Given the description of an element on the screen output the (x, y) to click on. 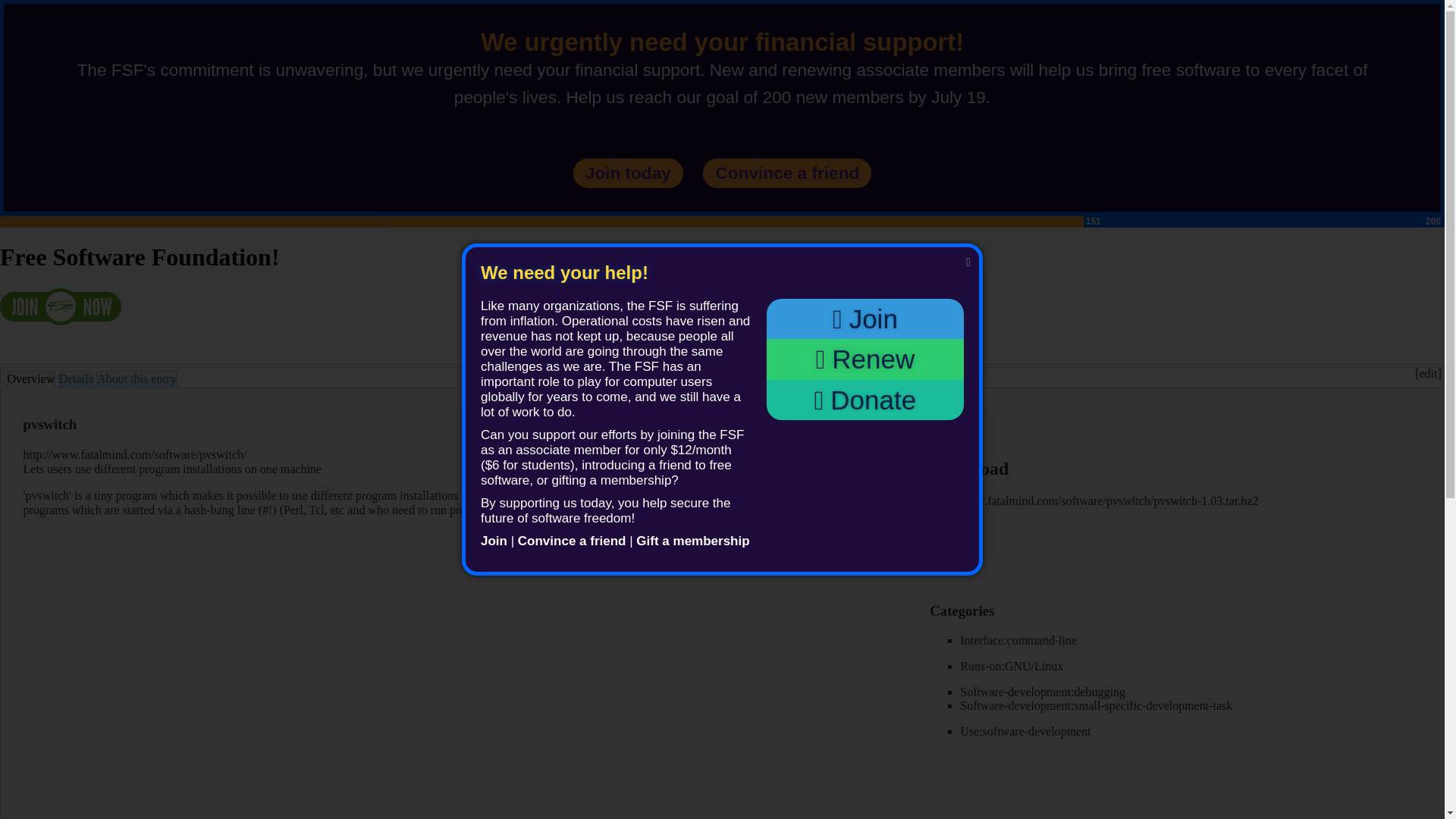
About this entry (136, 379)
Interface:command-line (1018, 640)
Details (76, 379)
Free Software Foundation! (139, 257)
Use:software-development (1024, 730)
Join (493, 540)
Software-development:small-specific-development-task (1095, 705)
edit (1427, 373)
Gift a membership (692, 540)
 Donate (865, 400)
Edit tab (1427, 373)
 Join (865, 318)
Overview (31, 379)
Software-development:debugging (1042, 691)
 Renew (865, 359)
